Given the description of an element on the screen output the (x, y) to click on. 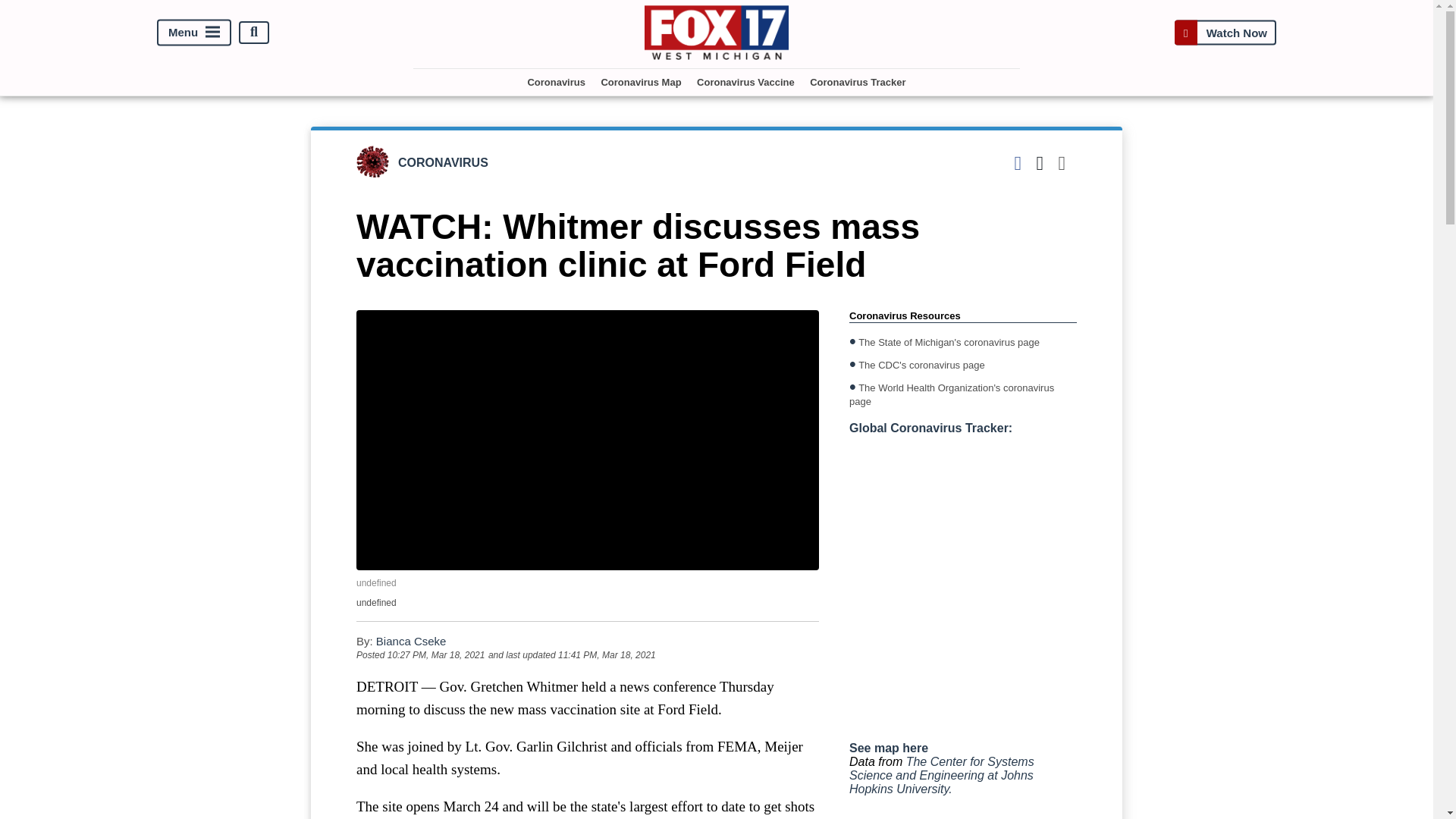
Menu (194, 31)
Watch Now (1224, 31)
